Given the description of an element on the screen output the (x, y) to click on. 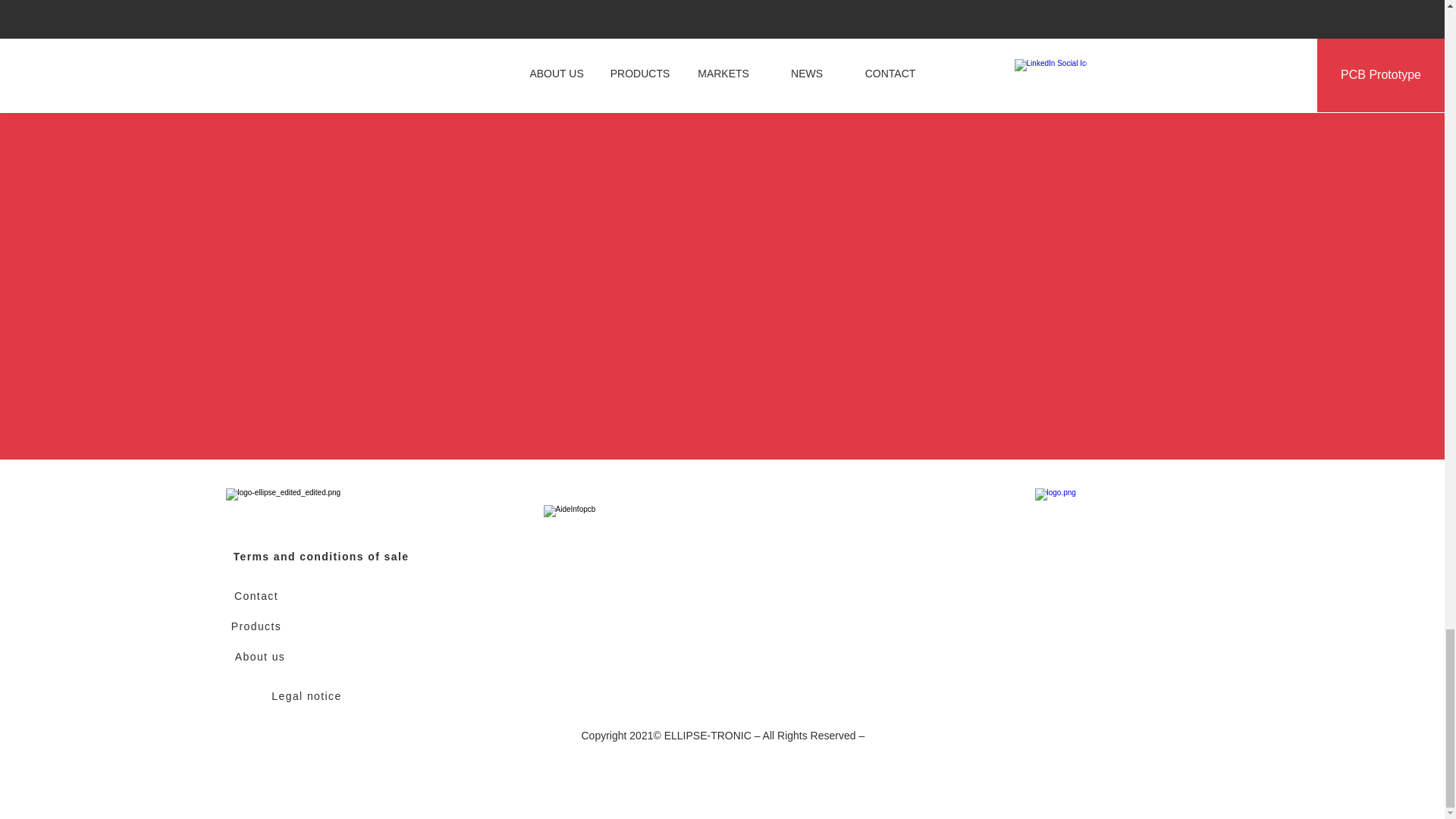
Contact (258, 595)
Terms and conditions of sale (322, 556)
Products (258, 625)
Legal notice (307, 695)
About us (261, 656)
